Given the description of an element on the screen output the (x, y) to click on. 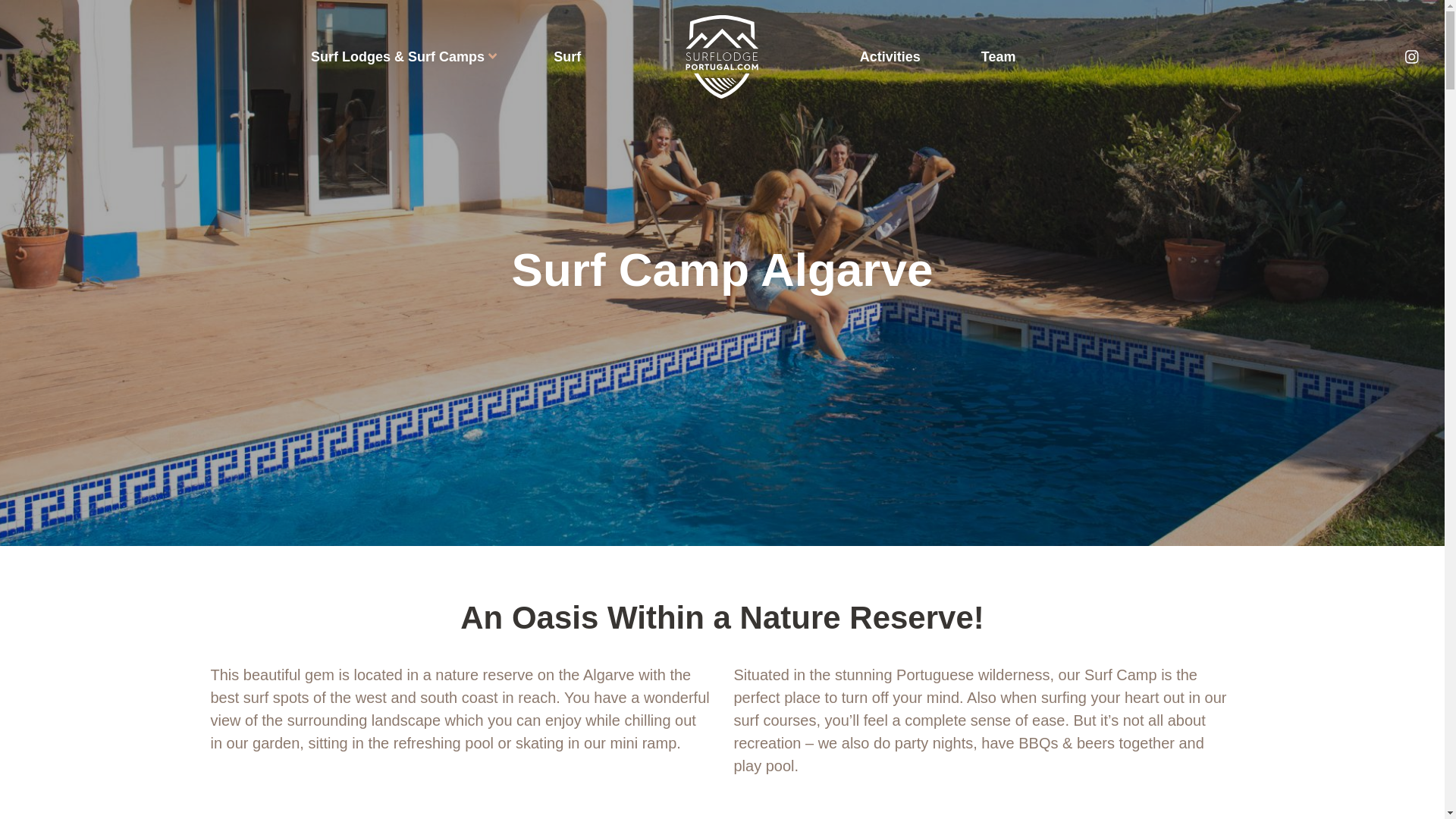
Activities (890, 56)
Surf (566, 56)
Activities (890, 56)
surflodgeportugal.com (721, 56)
Team (998, 56)
Instagram (1411, 56)
Team (998, 56)
Surf (566, 56)
